Given the description of an element on the screen output the (x, y) to click on. 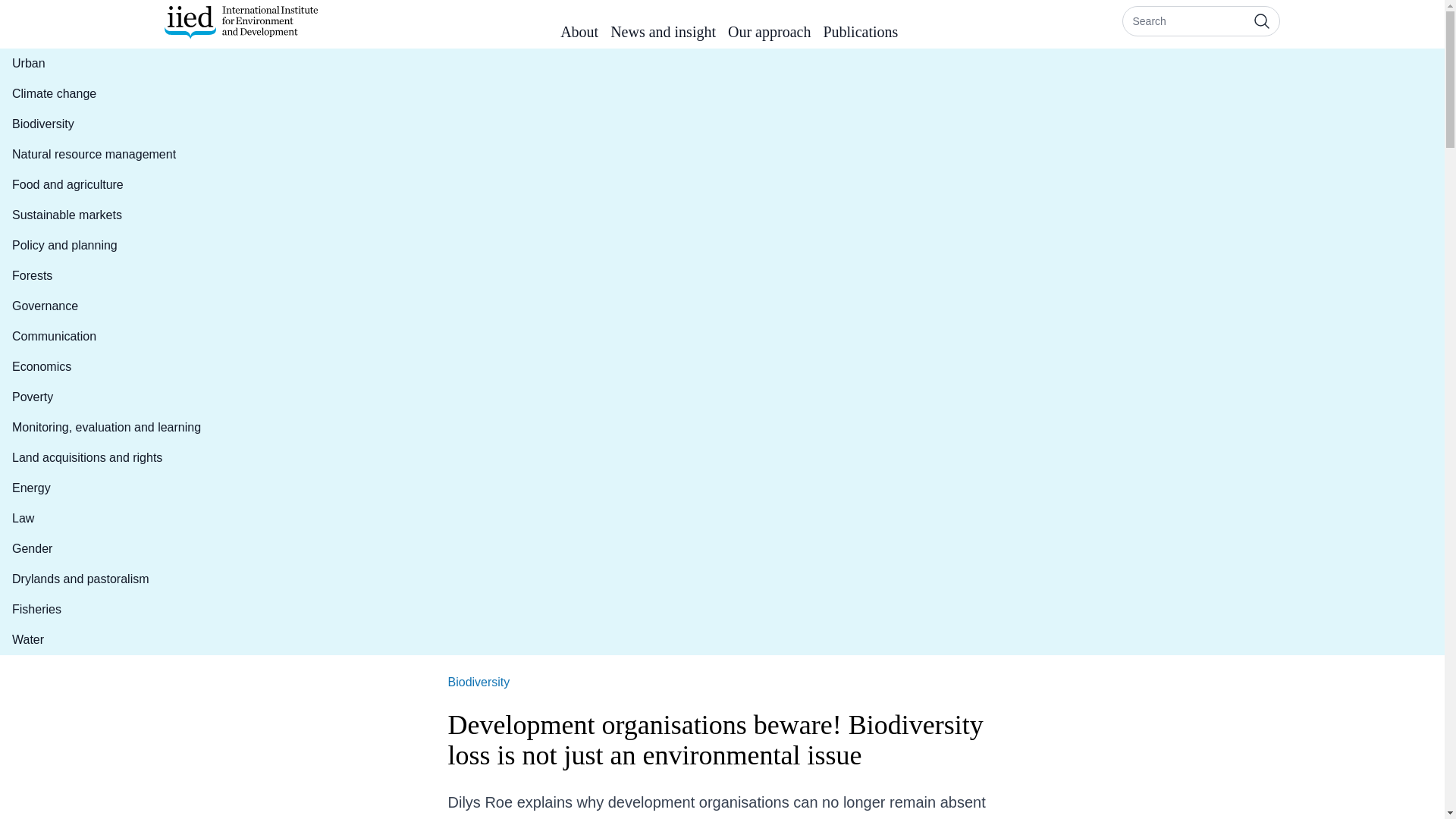
Land acquisitions and rights (106, 458)
Biodiversity (106, 123)
Urban (106, 63)
Our approach (769, 34)
Publications (860, 34)
News and insight (663, 34)
Biodiversity (477, 681)
Law (106, 518)
Energy (106, 488)
Home (240, 22)
